Given the description of an element on the screen output the (x, y) to click on. 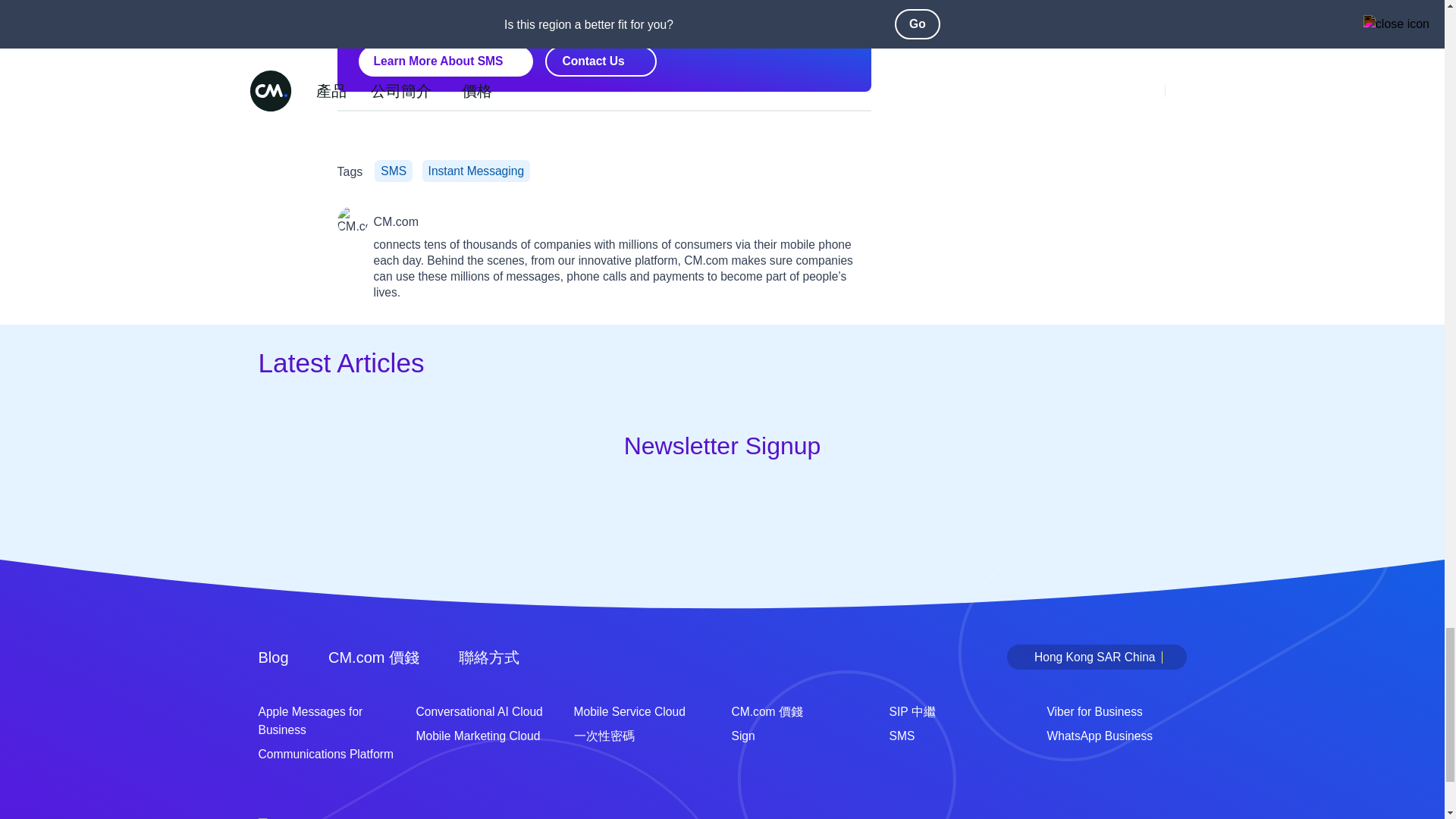
Learn More About SMS (445, 60)
